Given the description of an element on the screen output the (x, y) to click on. 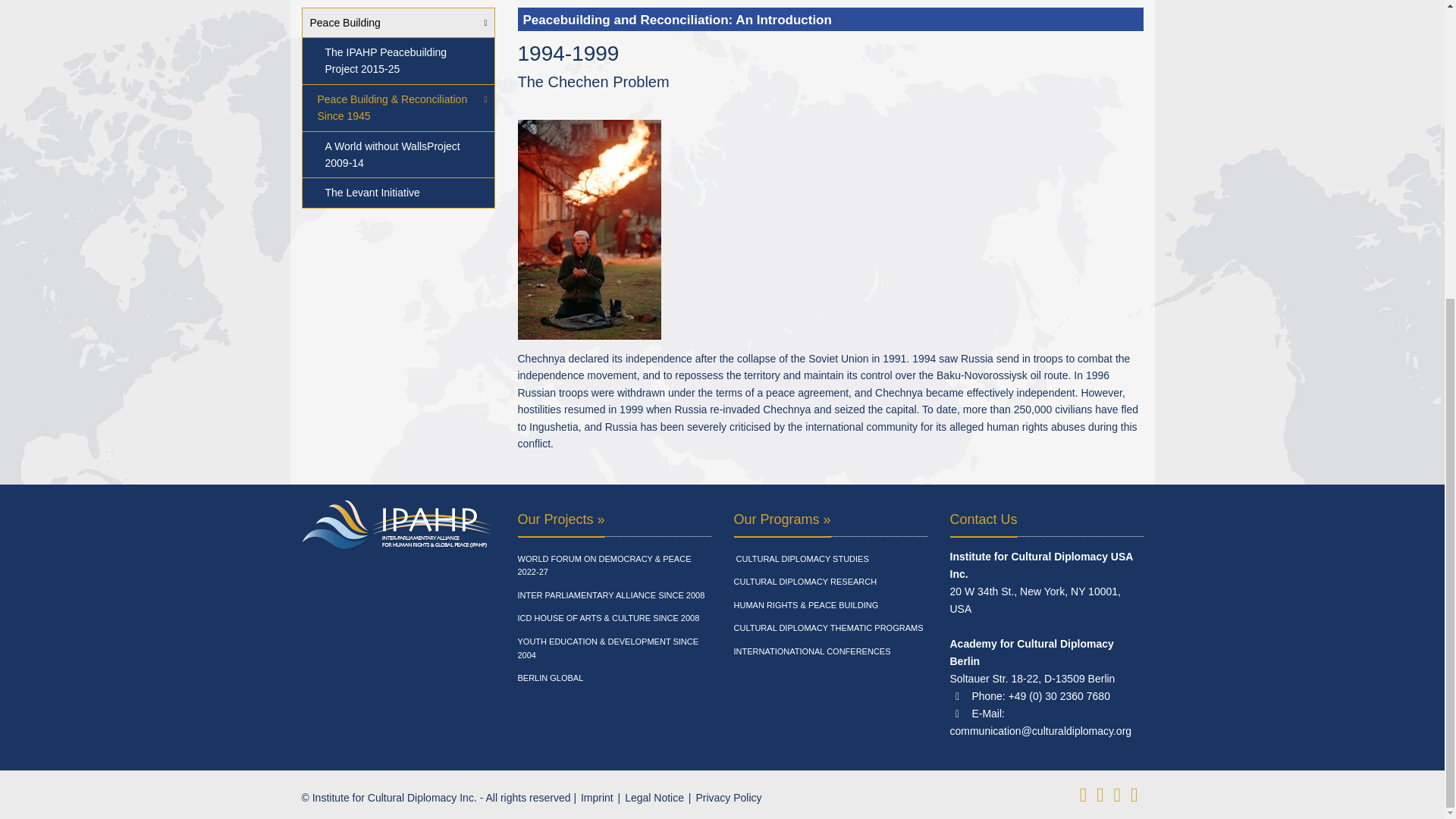
The IPAHP Peacebuilding Project 2015-25 (397, 61)
Inter Parliamentary Alliance for Human Rights (610, 595)
The Levant Initiative (397, 193)
Peace Building (397, 22)
Academy for Cultural Diplomacy (613, 565)
A World without WallsProject 2009-14 (397, 155)
